Given the description of an element on the screen output the (x, y) to click on. 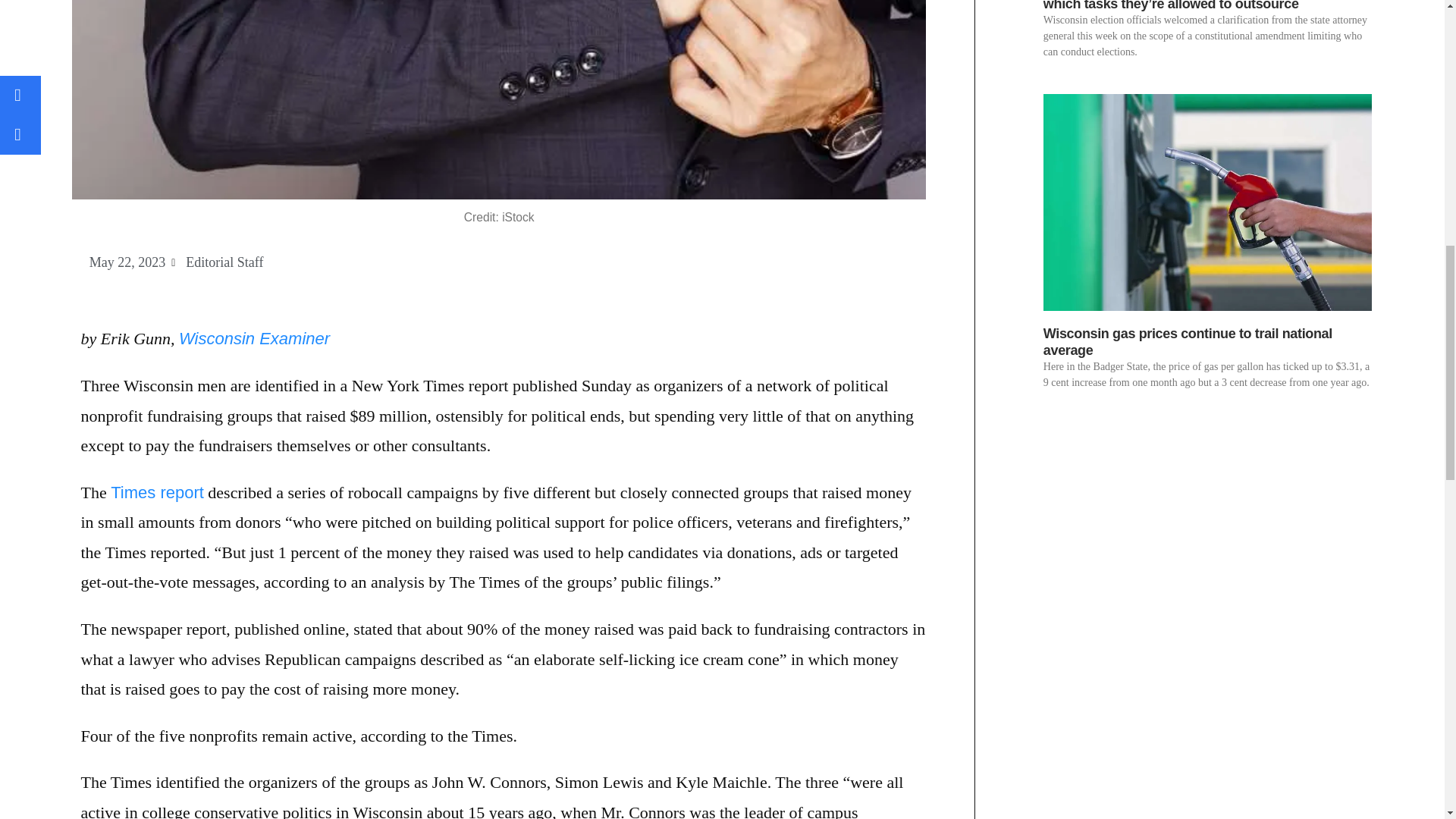
Wisconsin Examiner (254, 338)
Times report (156, 492)
Wisconsin gas prices continue to trail national average (1187, 341)
